Given the description of an element on the screen output the (x, y) to click on. 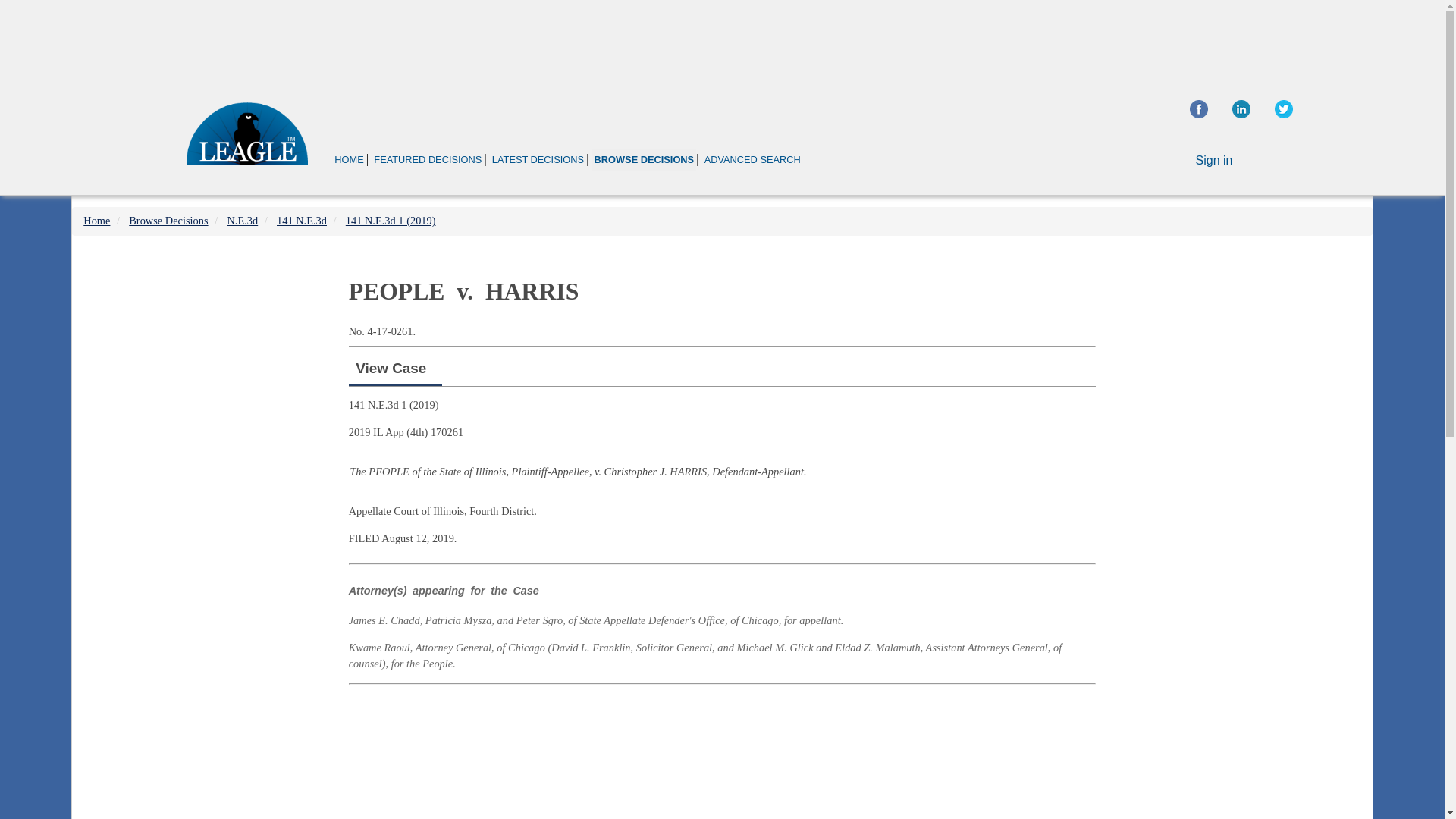
Advertisement (1242, 356)
View Case (390, 367)
Home (96, 220)
HOME (348, 159)
LATEST DECISIONS (537, 159)
Advertisement (722, 754)
FEATURED DECISIONS (427, 159)
N.E.3d (242, 220)
BROWSE DECISIONS (643, 159)
Advertisement (721, 41)
